Given the description of an element on the screen output the (x, y) to click on. 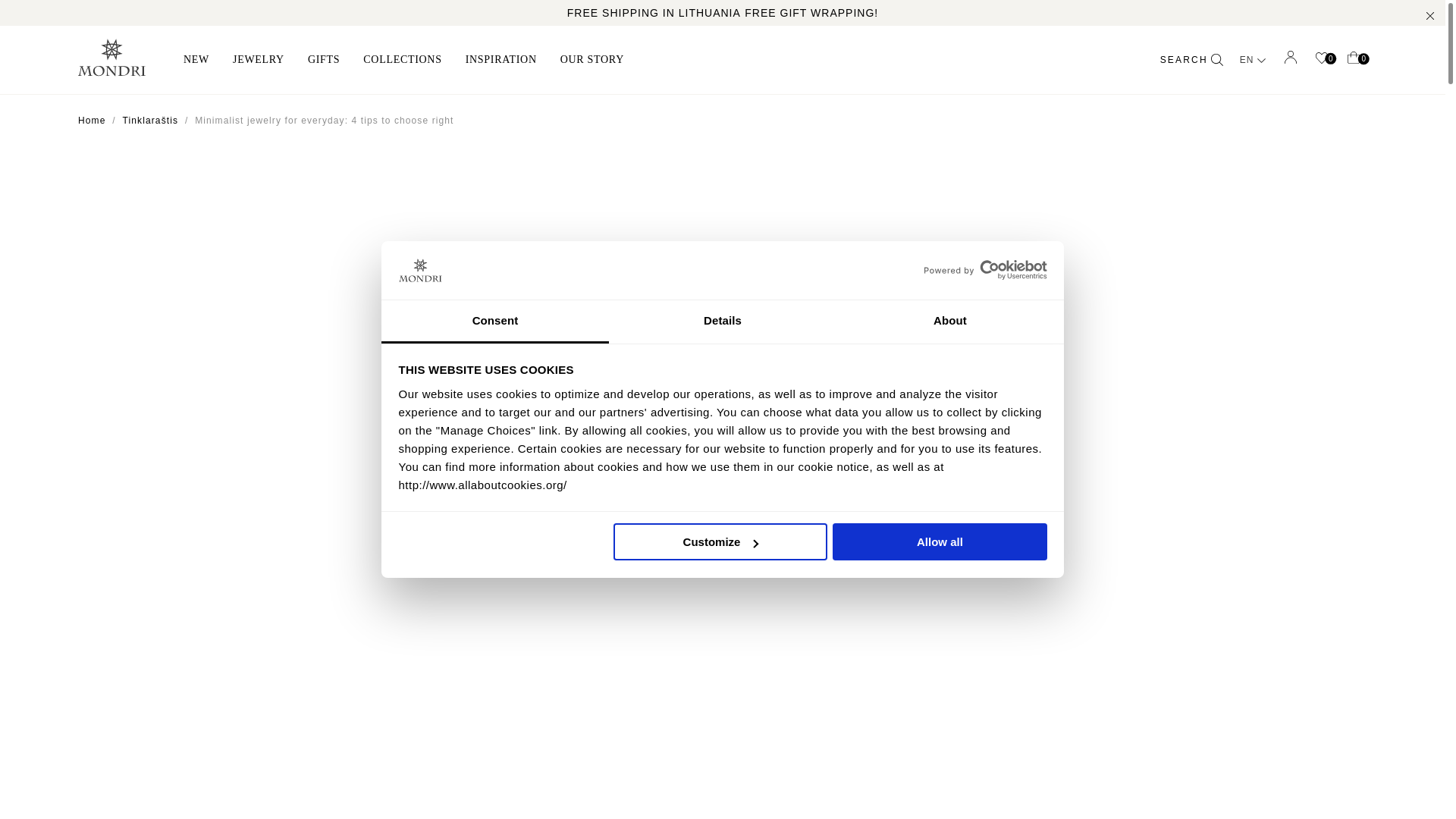
My account (1290, 56)
Consent (494, 321)
About (949, 321)
Cart (1353, 59)
Details (721, 321)
